Given the description of an element on the screen output the (x, y) to click on. 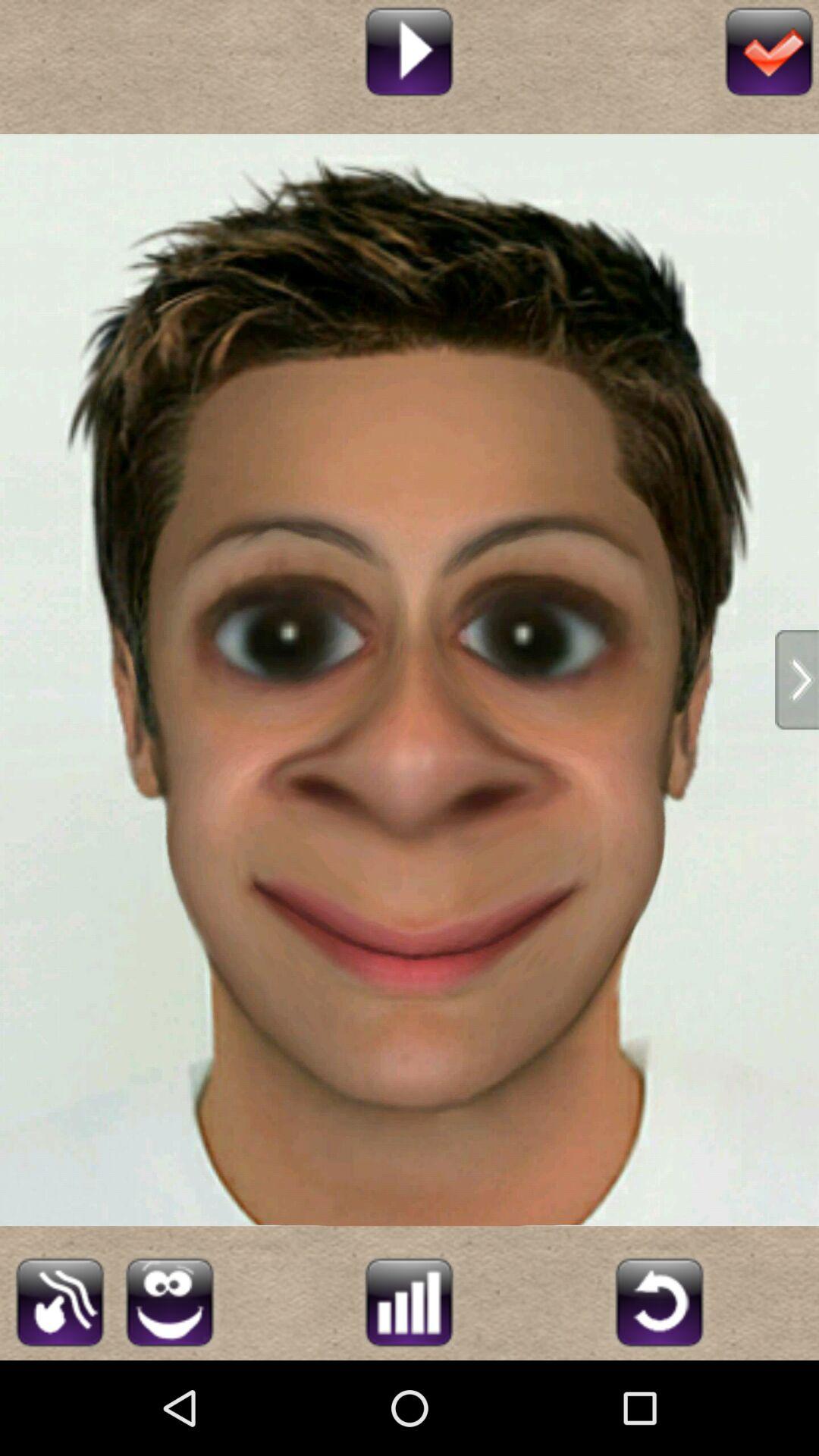
deform photo (169, 1300)
